Given the description of an element on the screen output the (x, y) to click on. 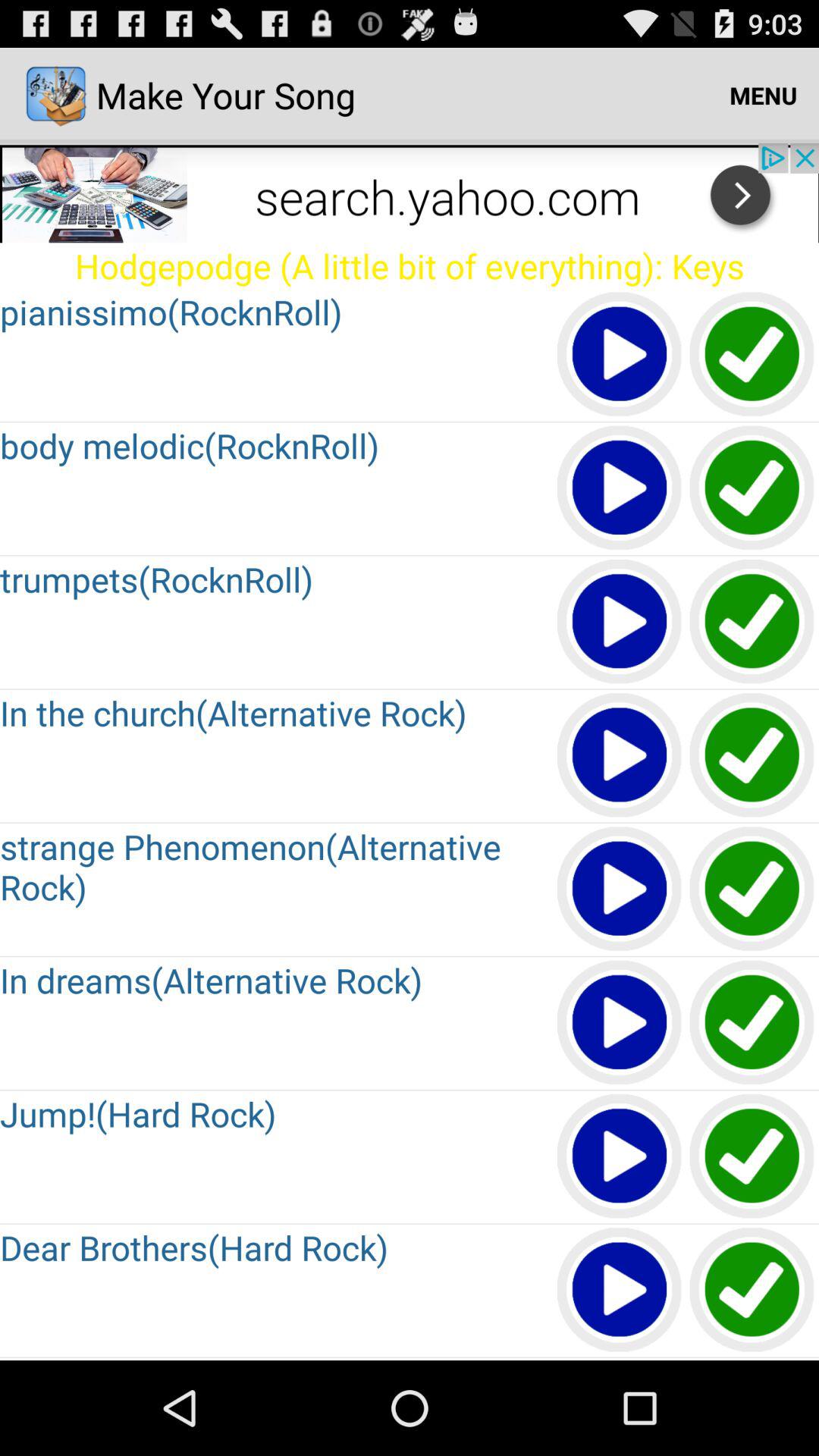
play selected audio or video (619, 755)
